Given the description of an element on the screen output the (x, y) to click on. 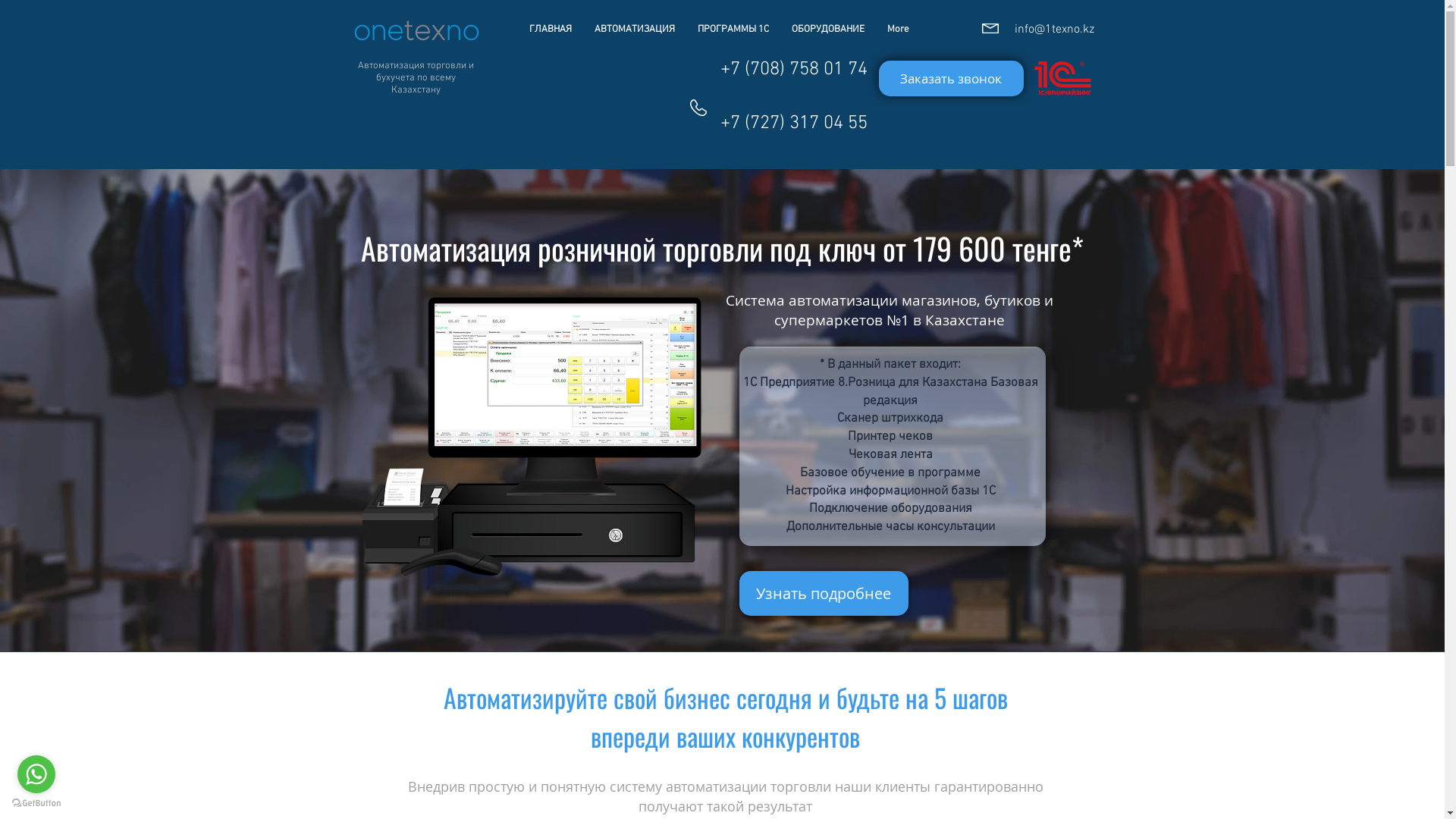
+7 (727) 317 04 55 Element type: text (793, 123)
info@1texno.kz Element type: text (1054, 29)
 +7 (708) 758 01 74 Element type: text (791, 69)
